Given the description of an element on the screen output the (x, y) to click on. 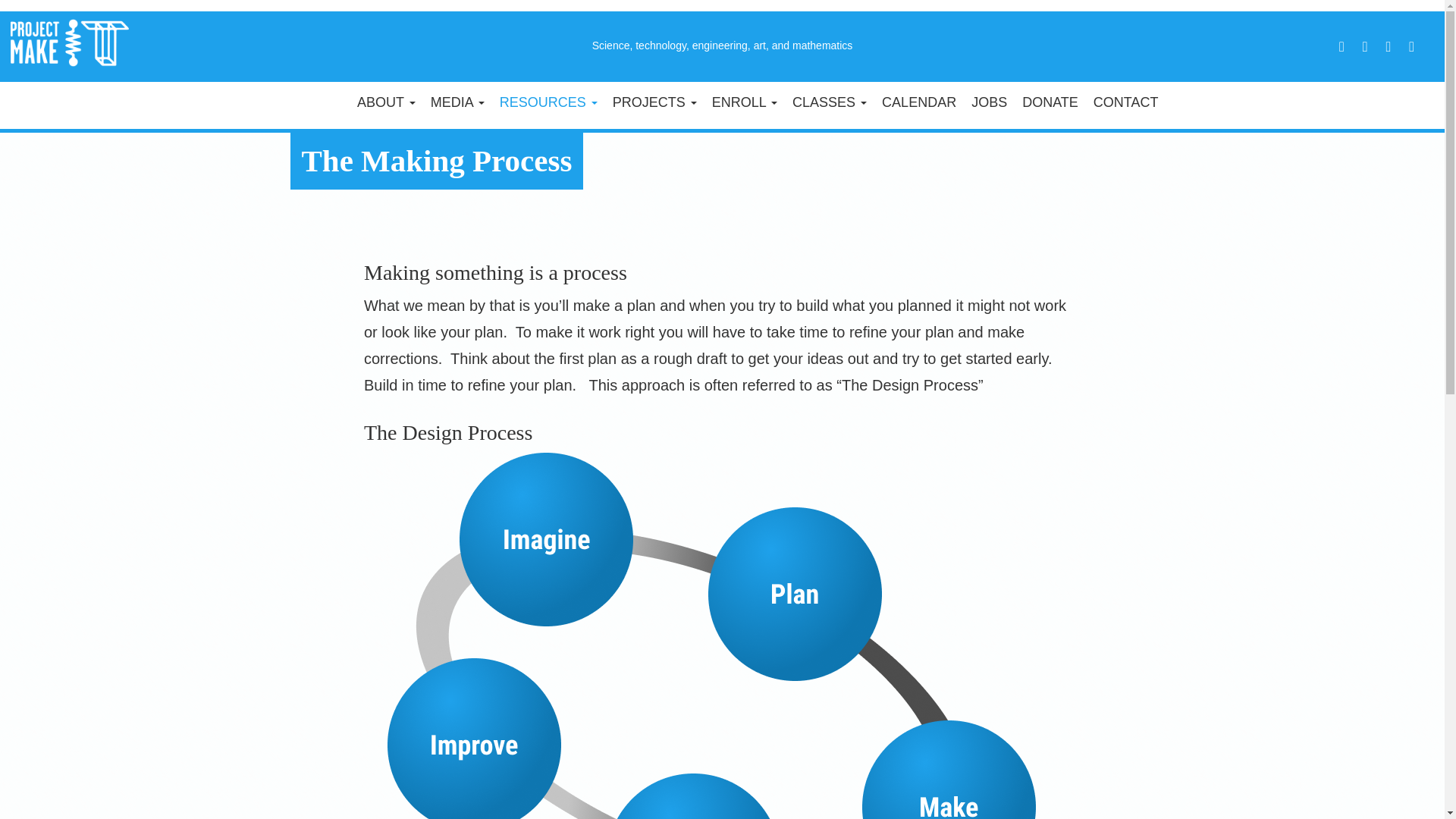
Instagram (1364, 46)
Facebook (1411, 46)
TWITTER (1341, 46)
ABOUT (386, 102)
PROJECTS (654, 102)
LINKEDIN (1387, 46)
MEDIA (457, 102)
FACEBOOK (1411, 46)
LinkedIn (1387, 46)
RESOURCES (548, 102)
Twitter (1341, 46)
INSTAGRAM (1364, 46)
ENROLL (744, 102)
